Given the description of an element on the screen output the (x, y) to click on. 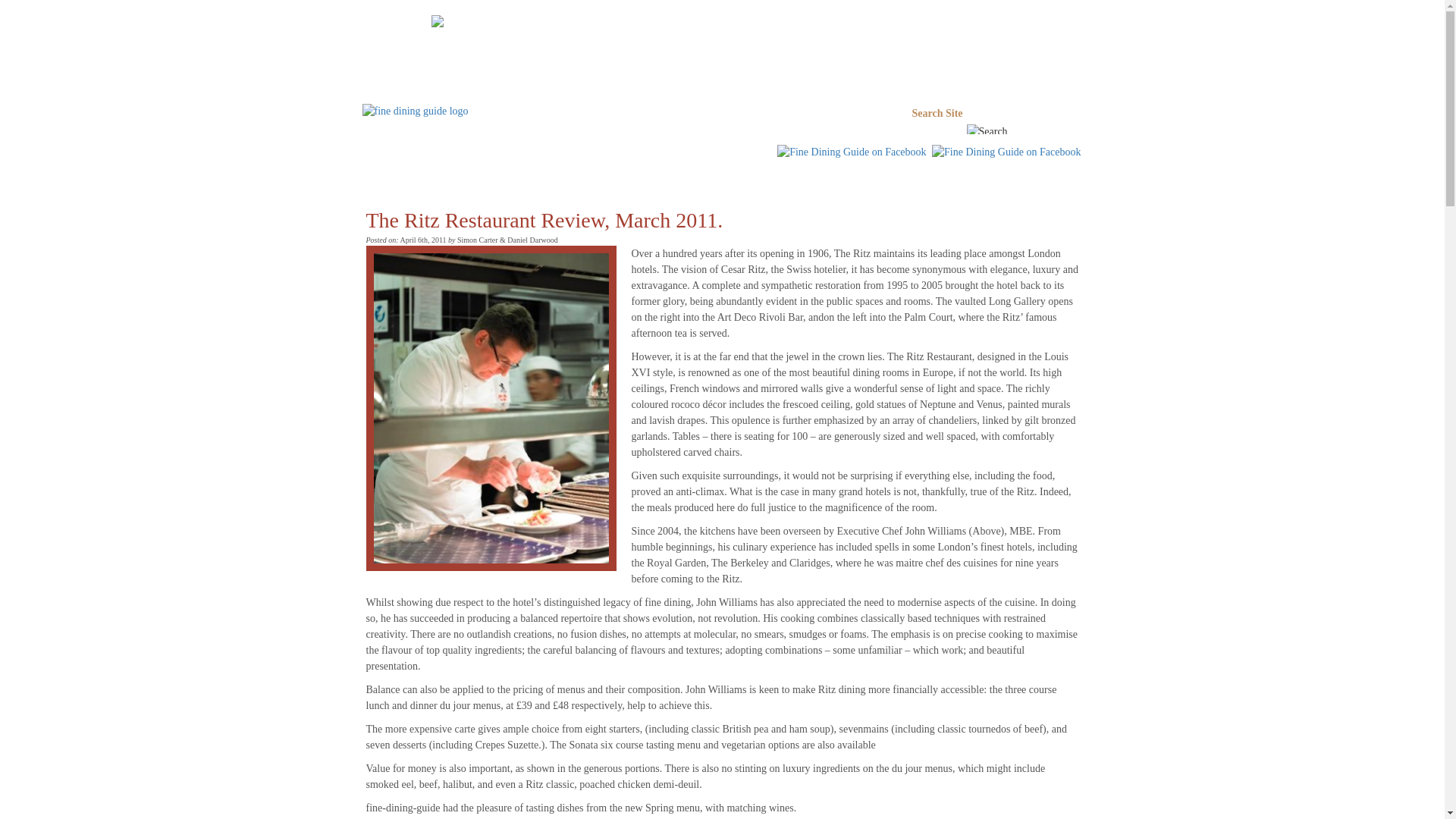
Article (467, 152)
advertise with us (721, 21)
Interview (600, 152)
Gallery (807, 152)
Social Media (735, 152)
Review (531, 152)
Guides (403, 152)
Lists (664, 152)
Contact (863, 152)
Review (531, 152)
Article (467, 152)
Guides (403, 152)
